Given the description of an element on the screen output the (x, y) to click on. 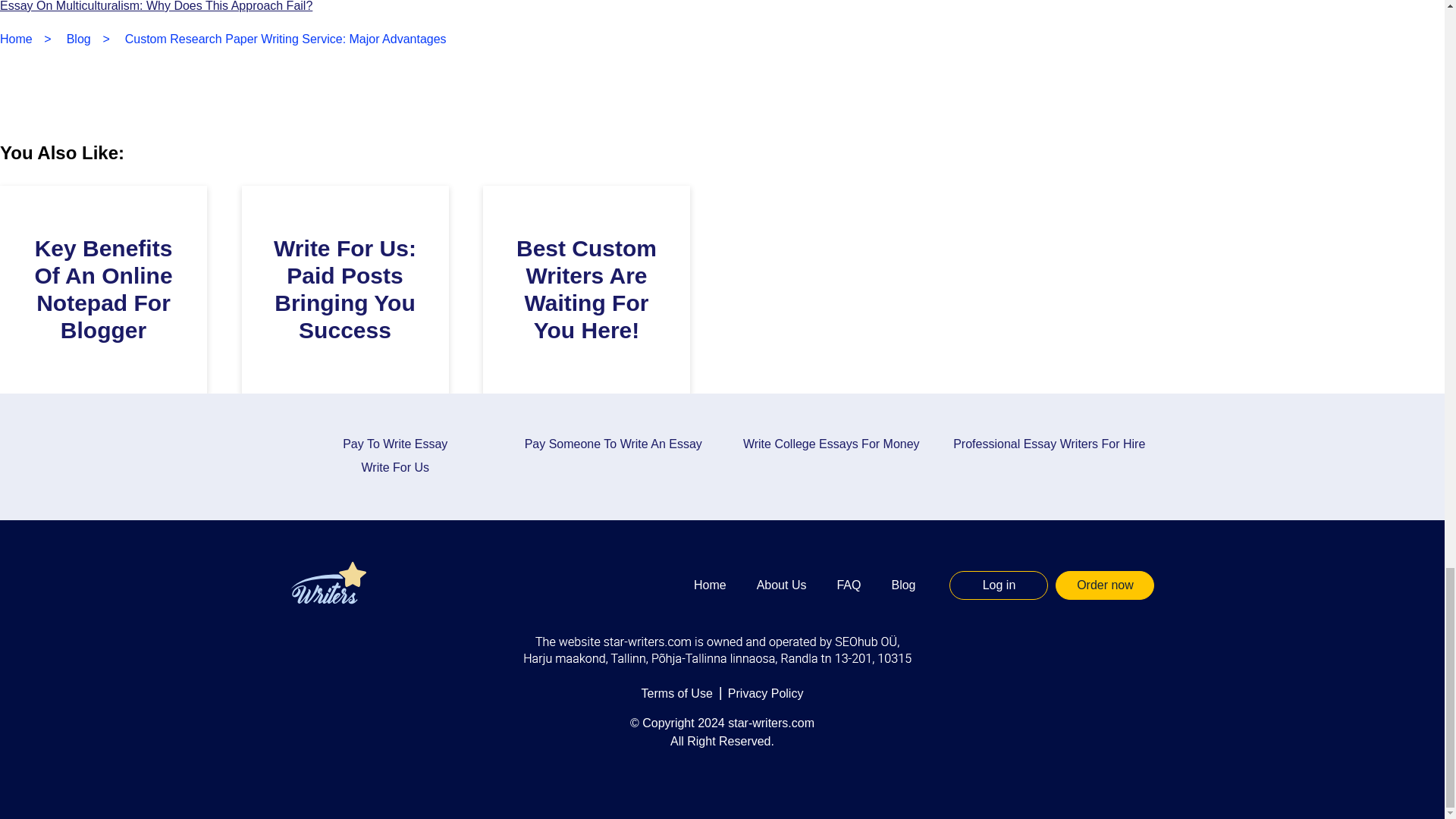
Write For Us: Paid Posts Bringing You Success (344, 289)
Home (16, 39)
Blog (78, 39)
Key Benefits Of An Online Notepad For Blogger (102, 289)
Essay On Multiculturalism: Why Does This Approach Fail? (156, 6)
Best Custom Writers Are Waiting For You Here! (586, 289)
